Given the description of an element on the screen output the (x, y) to click on. 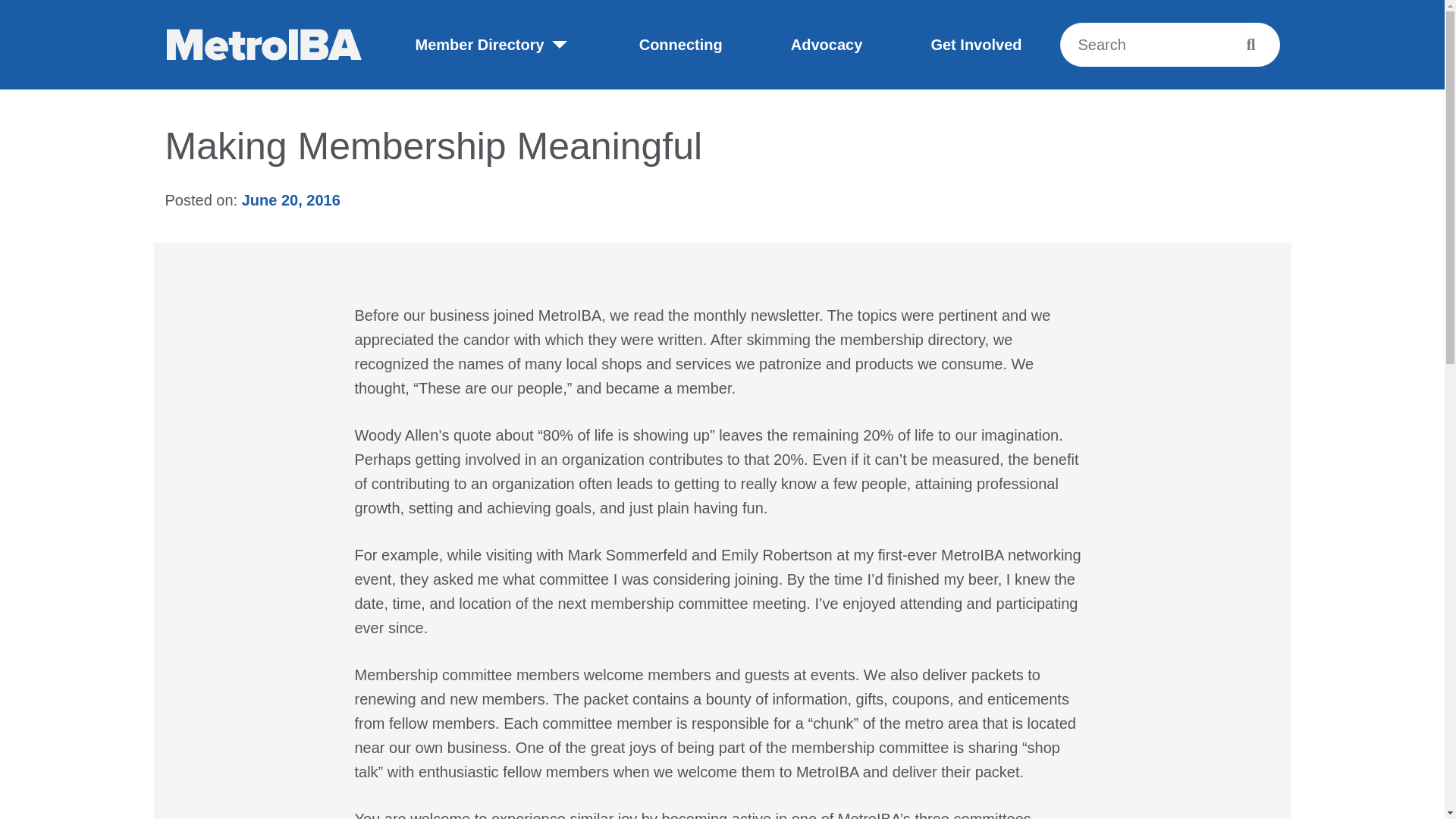
Member Directory (492, 44)
Connecting (680, 44)
Advocacy (826, 44)
Get Involved (976, 44)
